Given the description of an element on the screen output the (x, y) to click on. 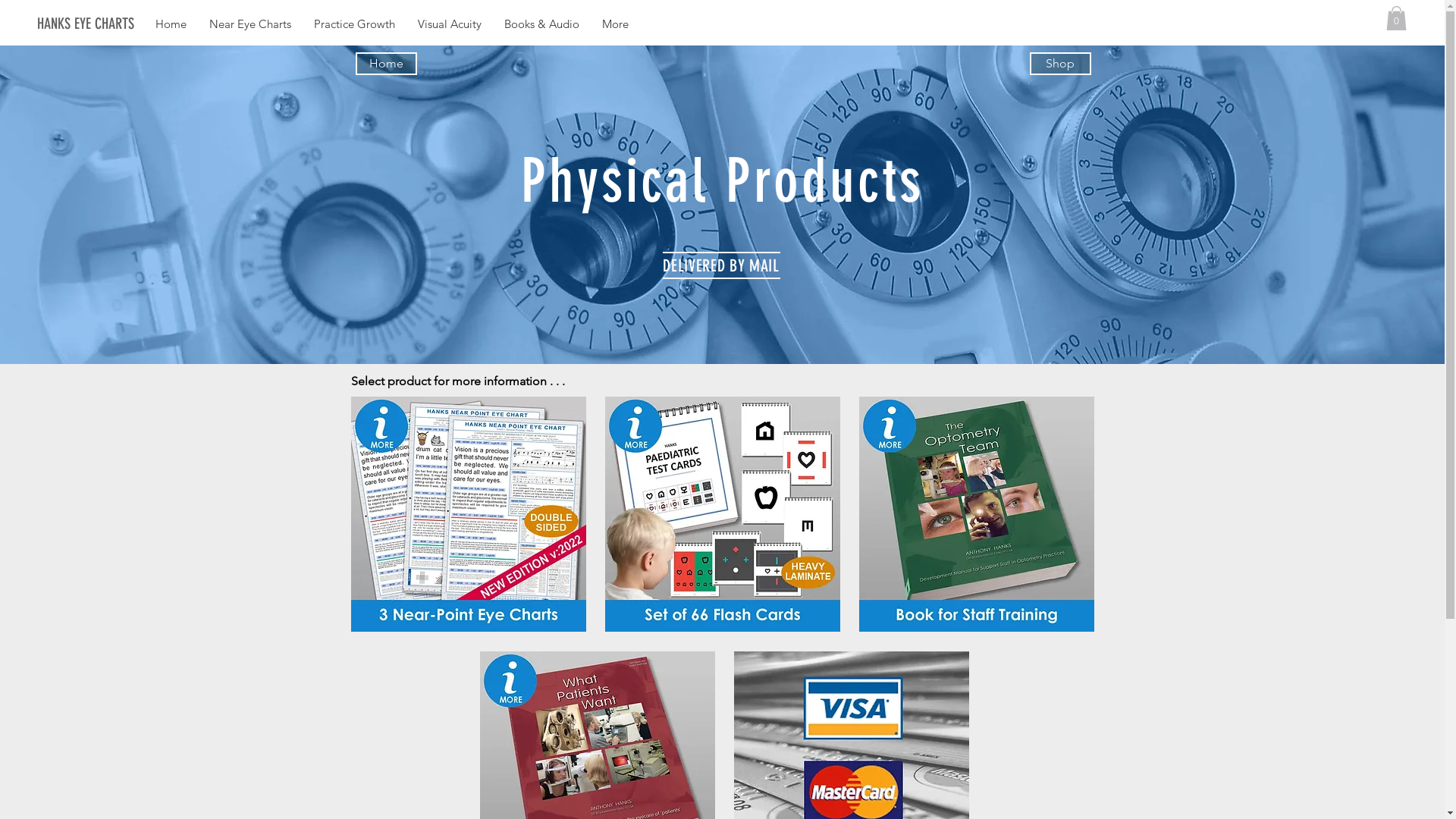
Shop Element type: text (1060, 63)
Click for more information Element type: hover (467, 513)
HANKS EYE CHARTS Element type: text (113, 23)
0 Element type: text (1396, 18)
Home Element type: text (170, 24)
Home Element type: text (385, 63)
Books & Audio Element type: text (541, 24)
Click for more information Element type: hover (975, 513)
Click for more information Element type: hover (722, 513)
Visual Acuity Element type: text (449, 24)
Near Eye Charts Element type: text (249, 24)
Practice Growth Element type: text (354, 24)
